Given the description of an element on the screen output the (x, y) to click on. 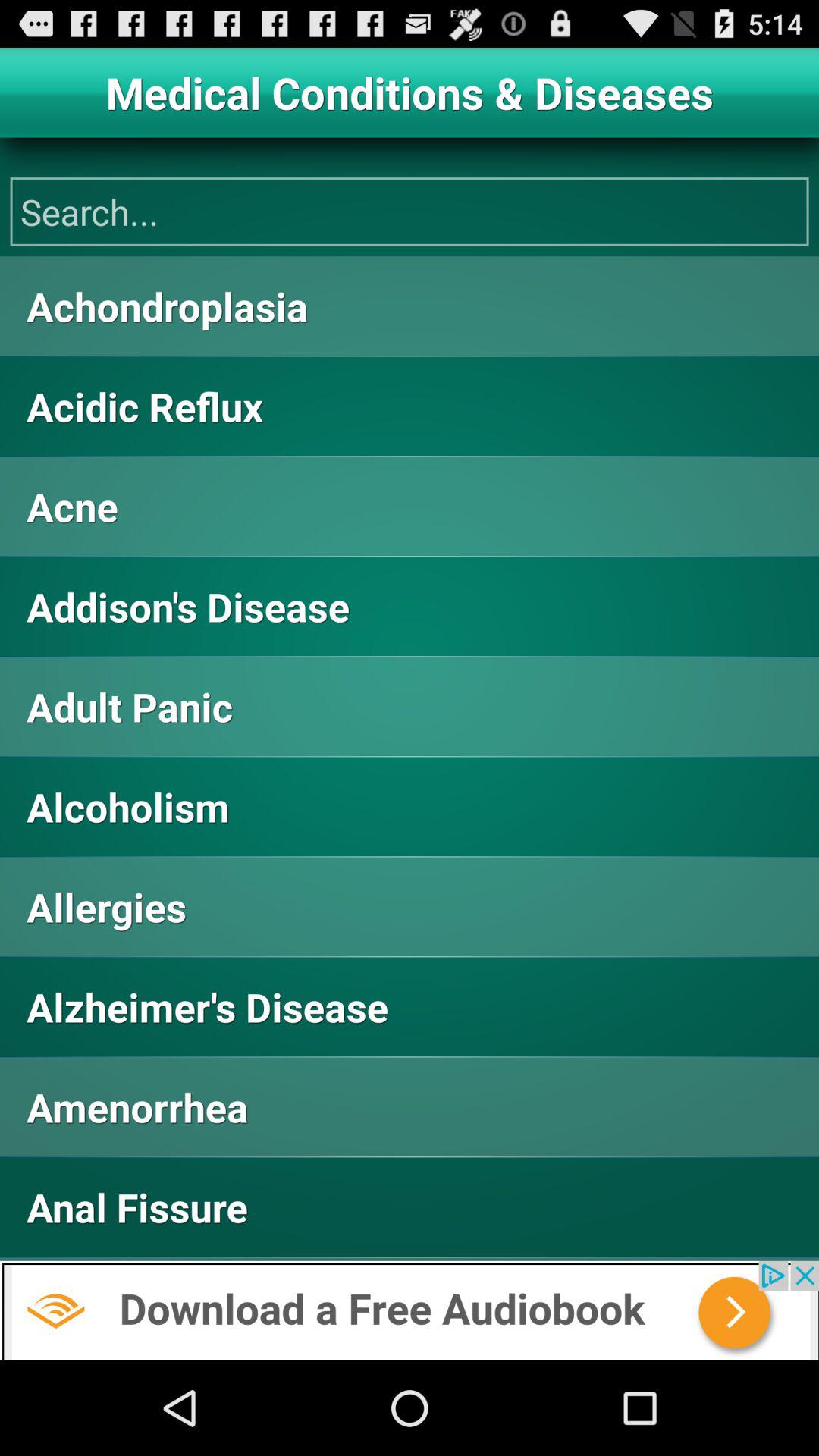
search (409, 211)
